Given the description of an element on the screen output the (x, y) to click on. 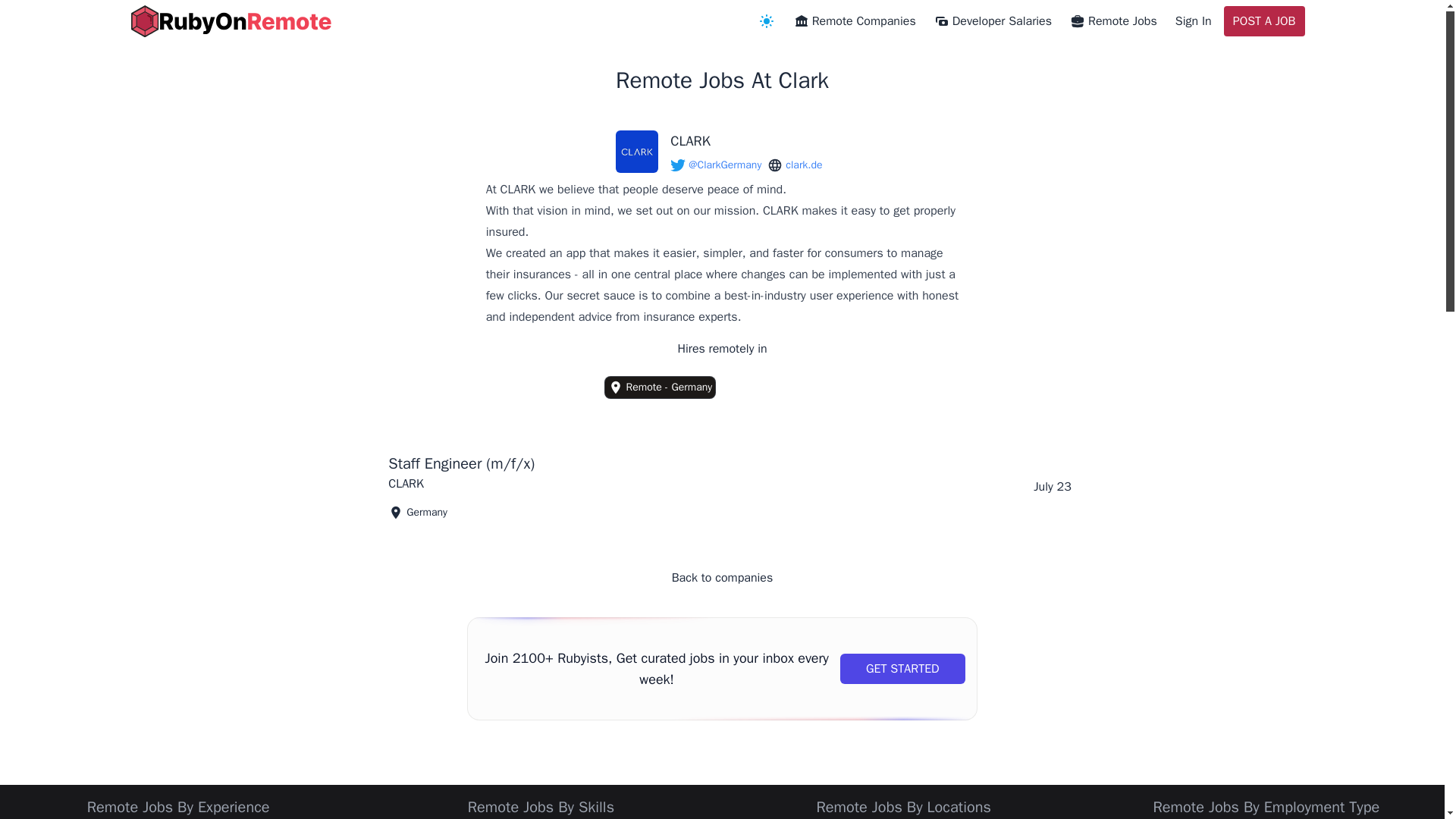
Developer Salaries (993, 21)
Remote Companies (854, 21)
POST A JOB (1264, 20)
Remote Jobs (1113, 21)
clark.de (794, 165)
Back to companies (722, 577)
Sign In (1193, 21)
CLARK (748, 140)
